Given the description of an element on the screen output the (x, y) to click on. 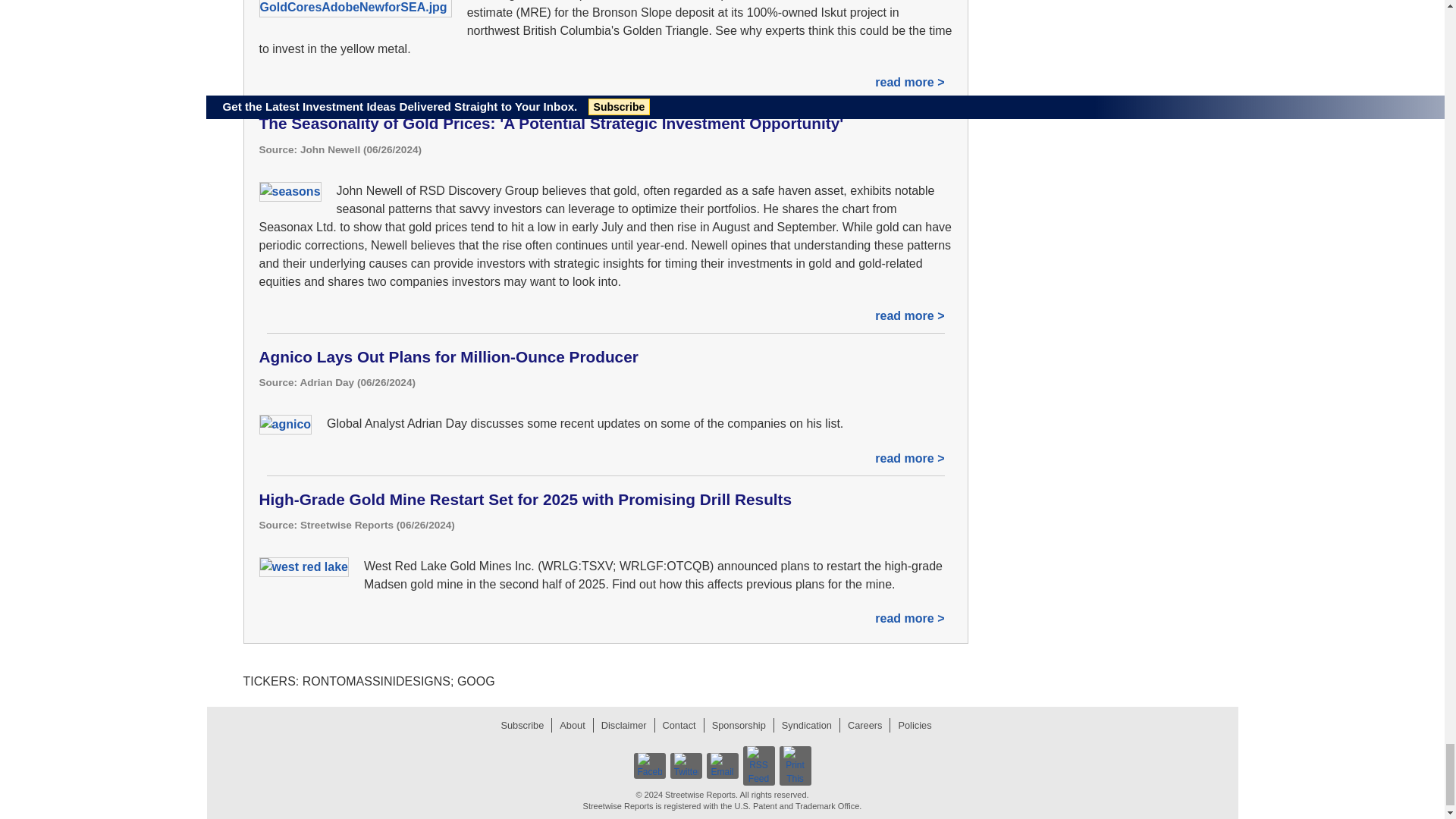
west red lake (304, 567)
GoldCoresAdobeNewforSEA.jpg (355, 8)
agnico (286, 424)
seasons (290, 191)
